Given the description of an element on the screen output the (x, y) to click on. 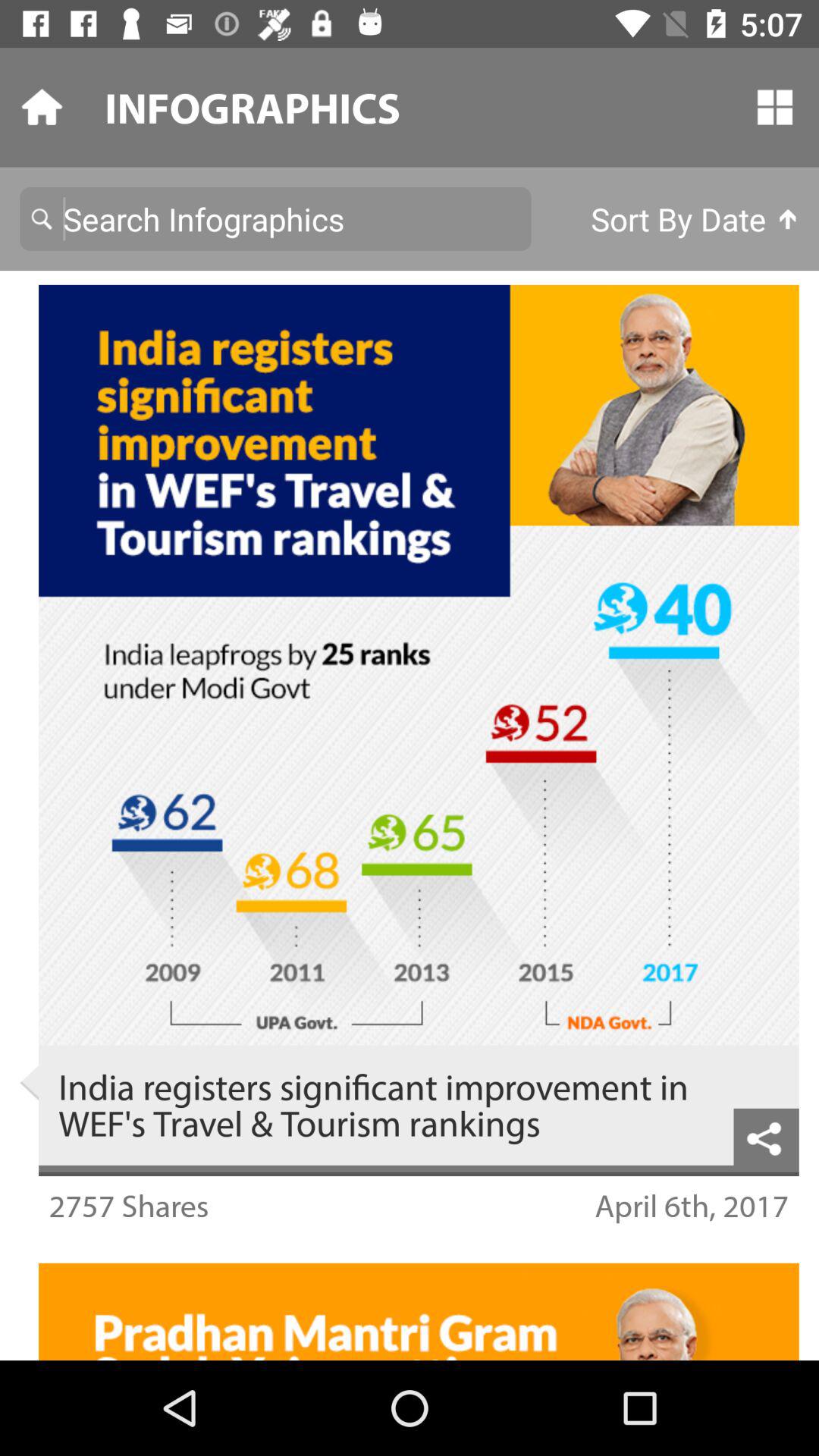
launch the item below 2757 shares icon (409, 1242)
